Given the description of an element on the screen output the (x, y) to click on. 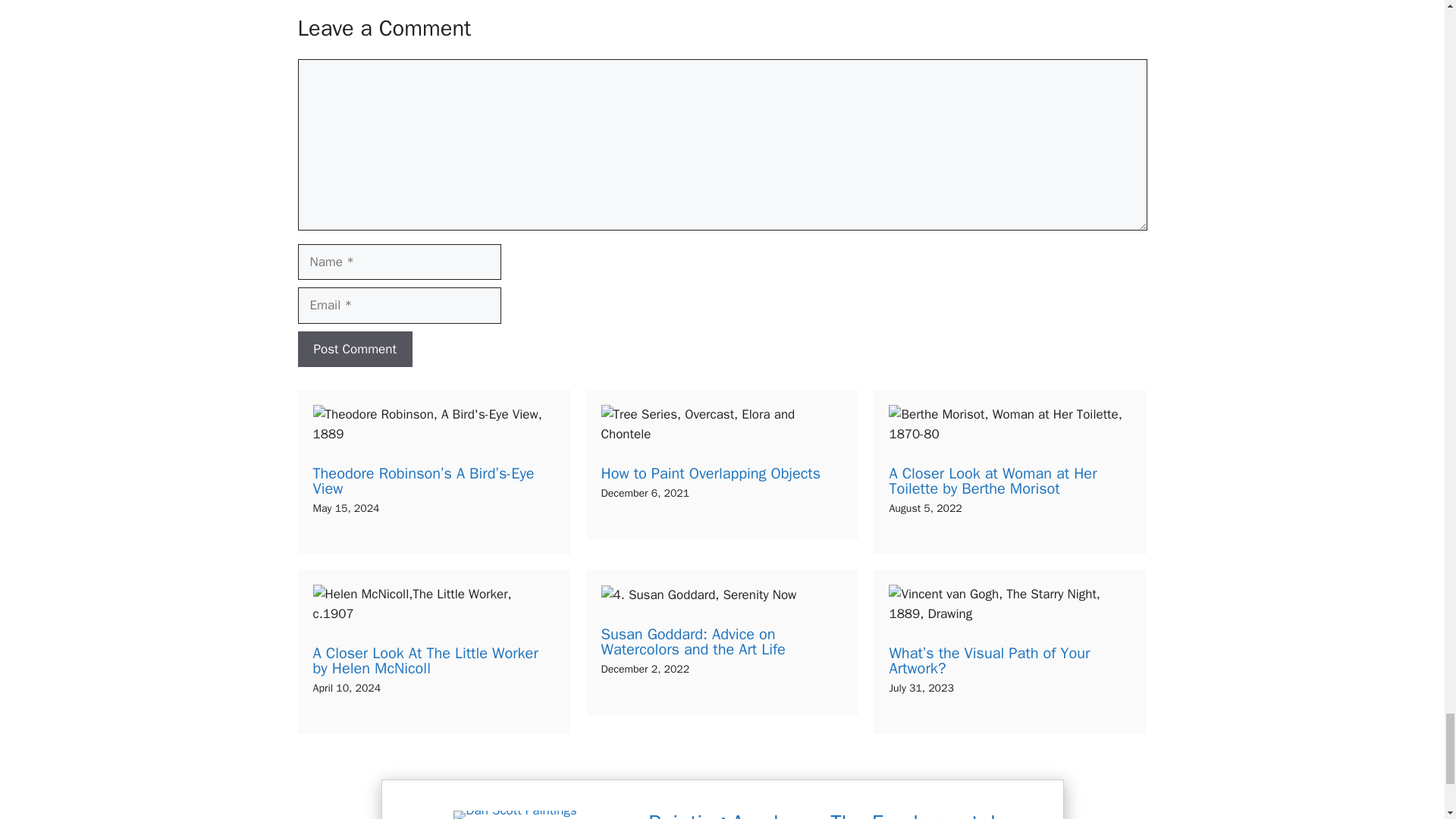
Post Comment (354, 349)
Painting Academy: The Fundamentals (827, 814)
Dan Scott Paintings (514, 814)
